Given the description of an element on the screen output the (x, y) to click on. 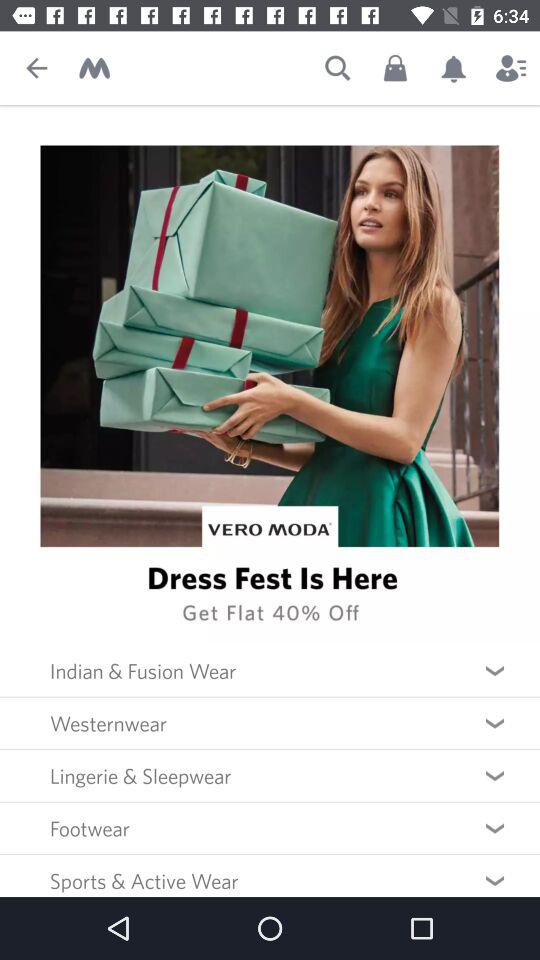
search products (337, 68)
